Given the description of an element on the screen output the (x, y) to click on. 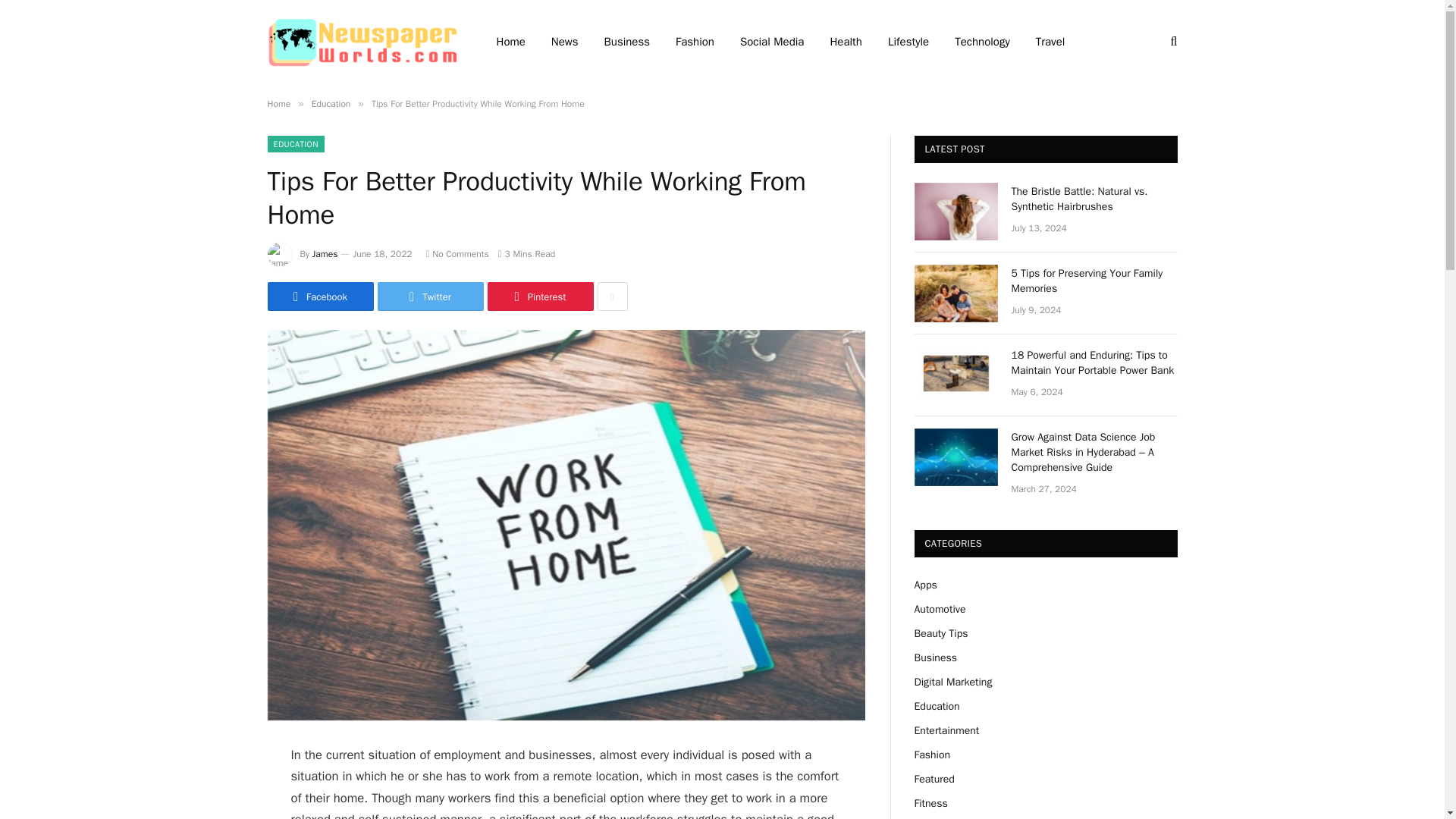
Twitter (430, 296)
Share on Facebook (319, 296)
No Comments (457, 254)
Facebook (319, 296)
James (325, 254)
Show More Social Sharing (611, 296)
Home (277, 103)
Pinterest (539, 296)
newspaperworlds (361, 41)
Share on Pinterest (539, 296)
Technology (982, 41)
Social Media (771, 41)
EDUCATION (294, 143)
Posts by James (325, 254)
